Given the description of an element on the screen output the (x, y) to click on. 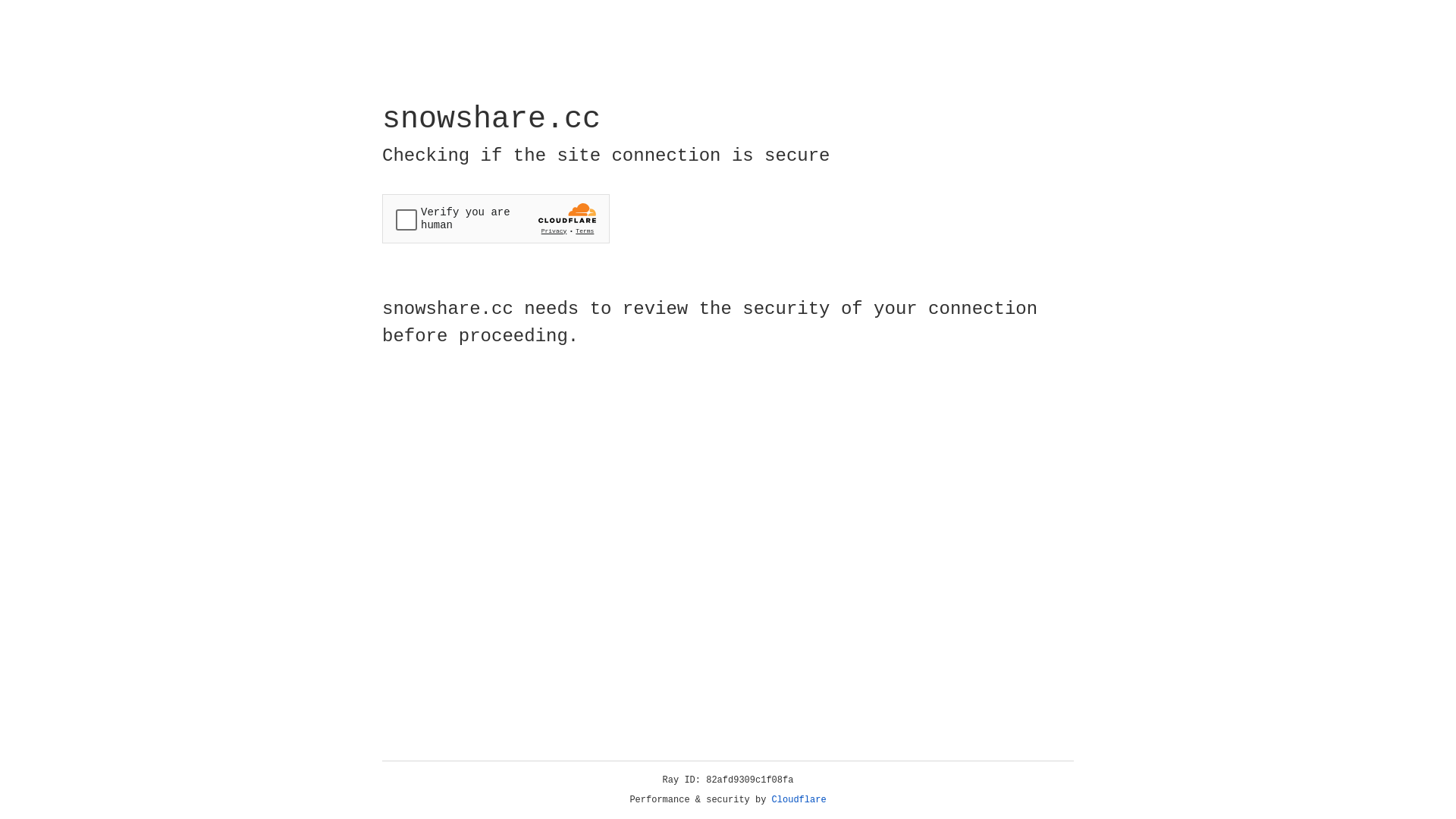
Cloudflare Element type: text (798, 799)
Widget containing a Cloudflare security challenge Element type: hover (495, 218)
